Given the description of an element on the screen output the (x, y) to click on. 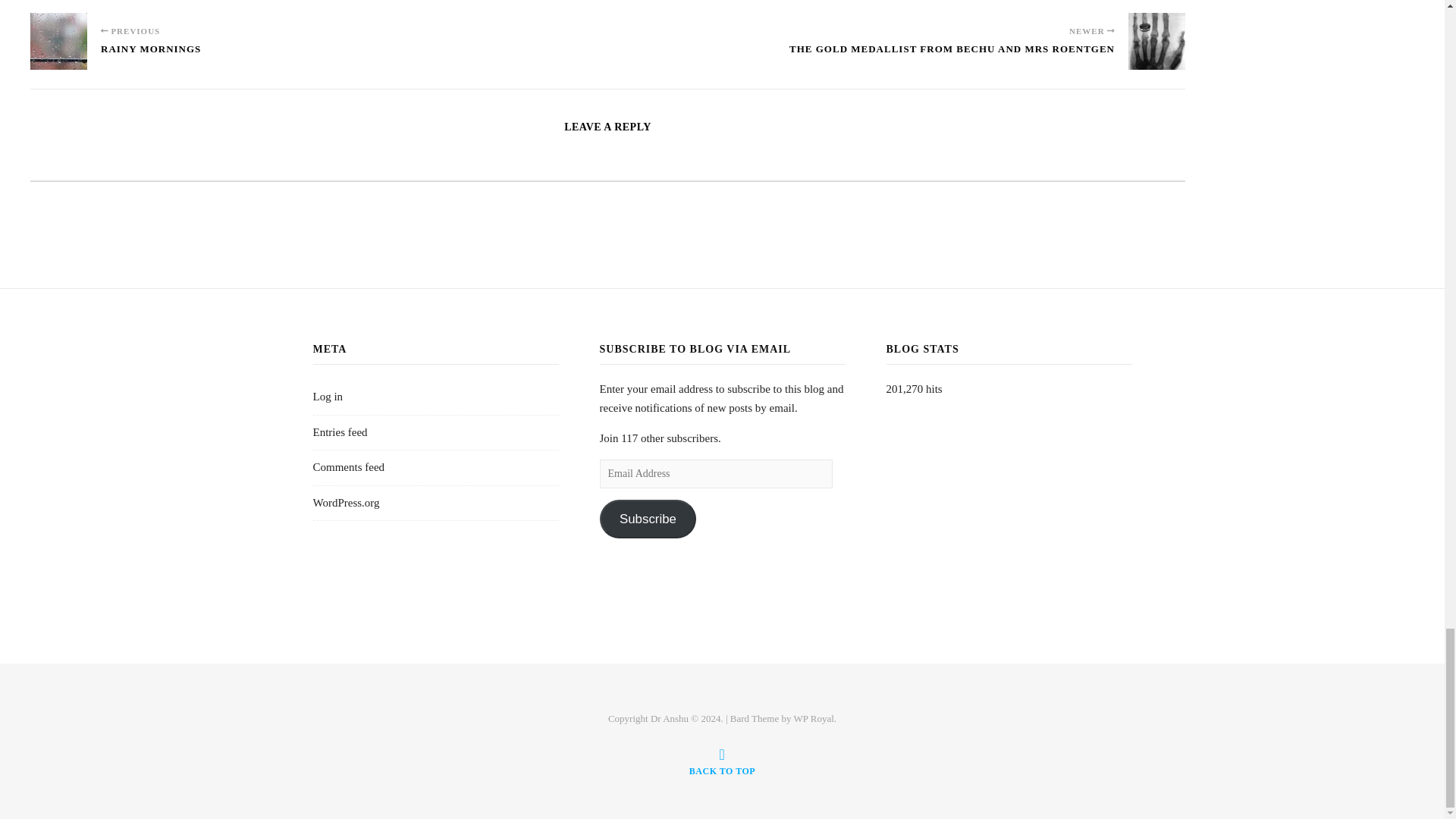
BACK TO TOP (722, 761)
Rainy mornings (58, 41)
